Given the description of an element on the screen output the (x, y) to click on. 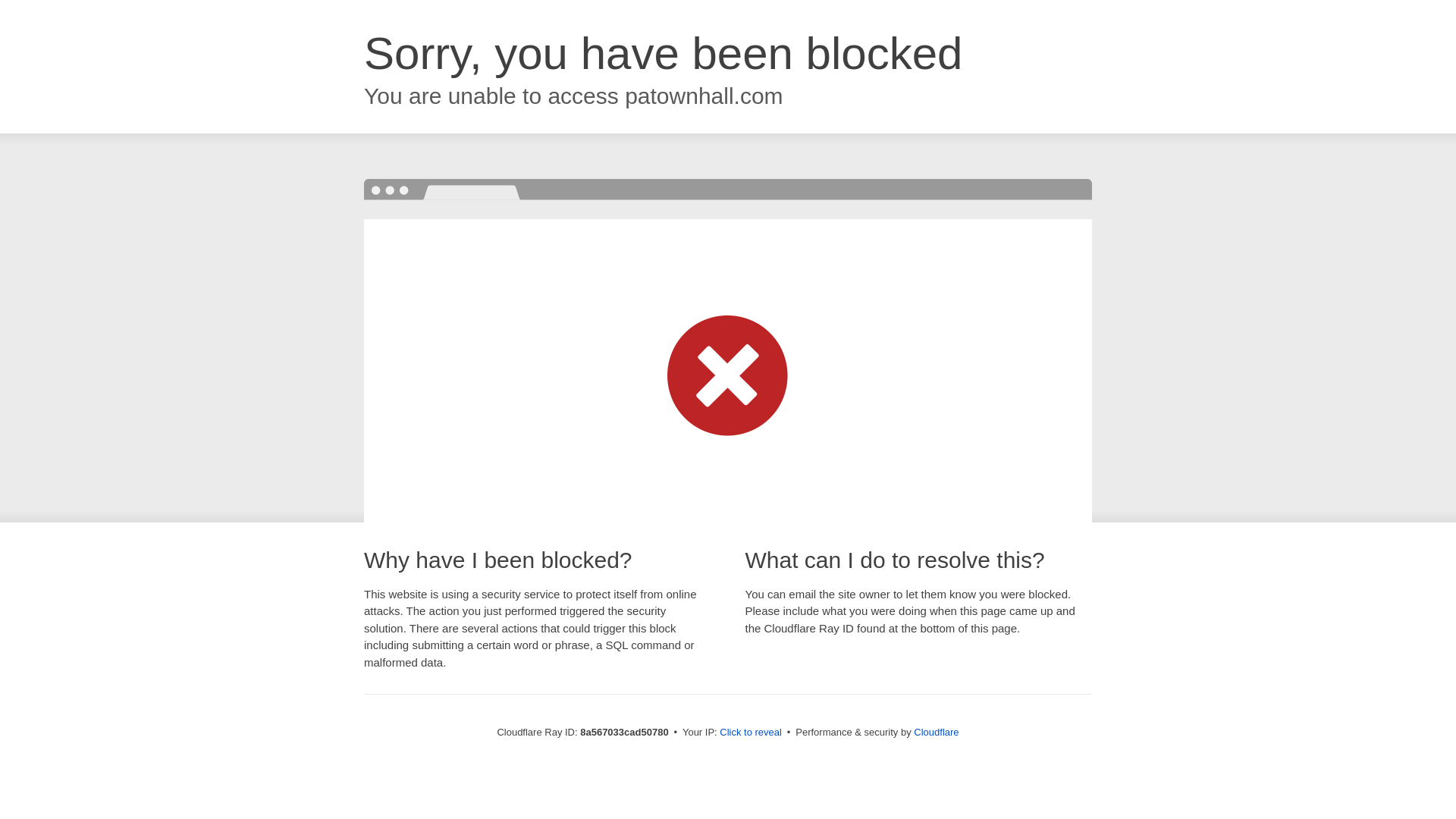
Click to reveal (750, 732)
Cloudflare (936, 731)
